Given the description of an element on the screen output the (x, y) to click on. 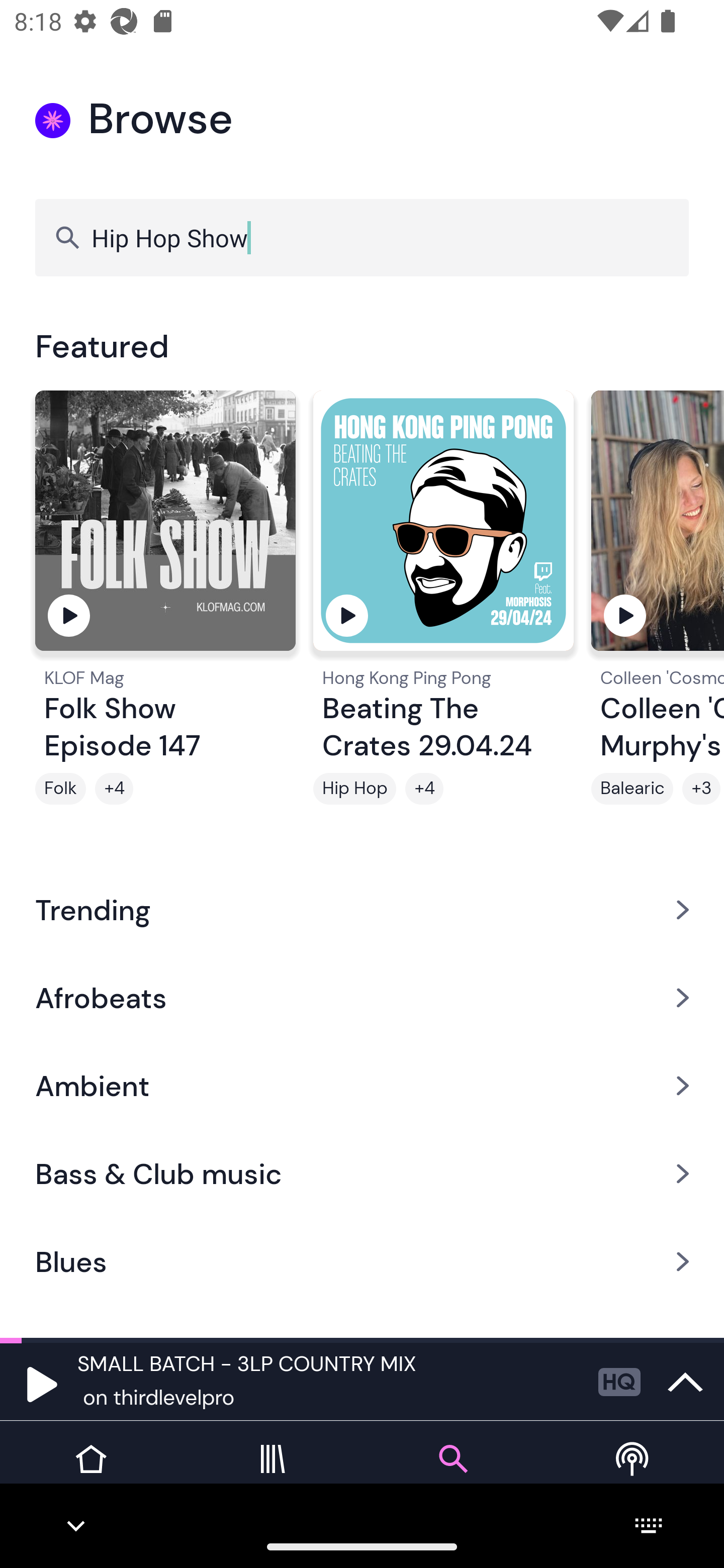
Hip Hop Show (361, 237)
Folk (60, 788)
Hip Hop (354, 788)
Balearic (632, 788)
Trending (361, 909)
Afrobeats (361, 997)
Ambient (361, 1085)
Bass & Club music (361, 1174)
Blues (361, 1262)
Home tab (90, 1473)
Library tab (271, 1473)
Browse tab (452, 1473)
Live tab (633, 1473)
